Given the description of an element on the screen output the (x, y) to click on. 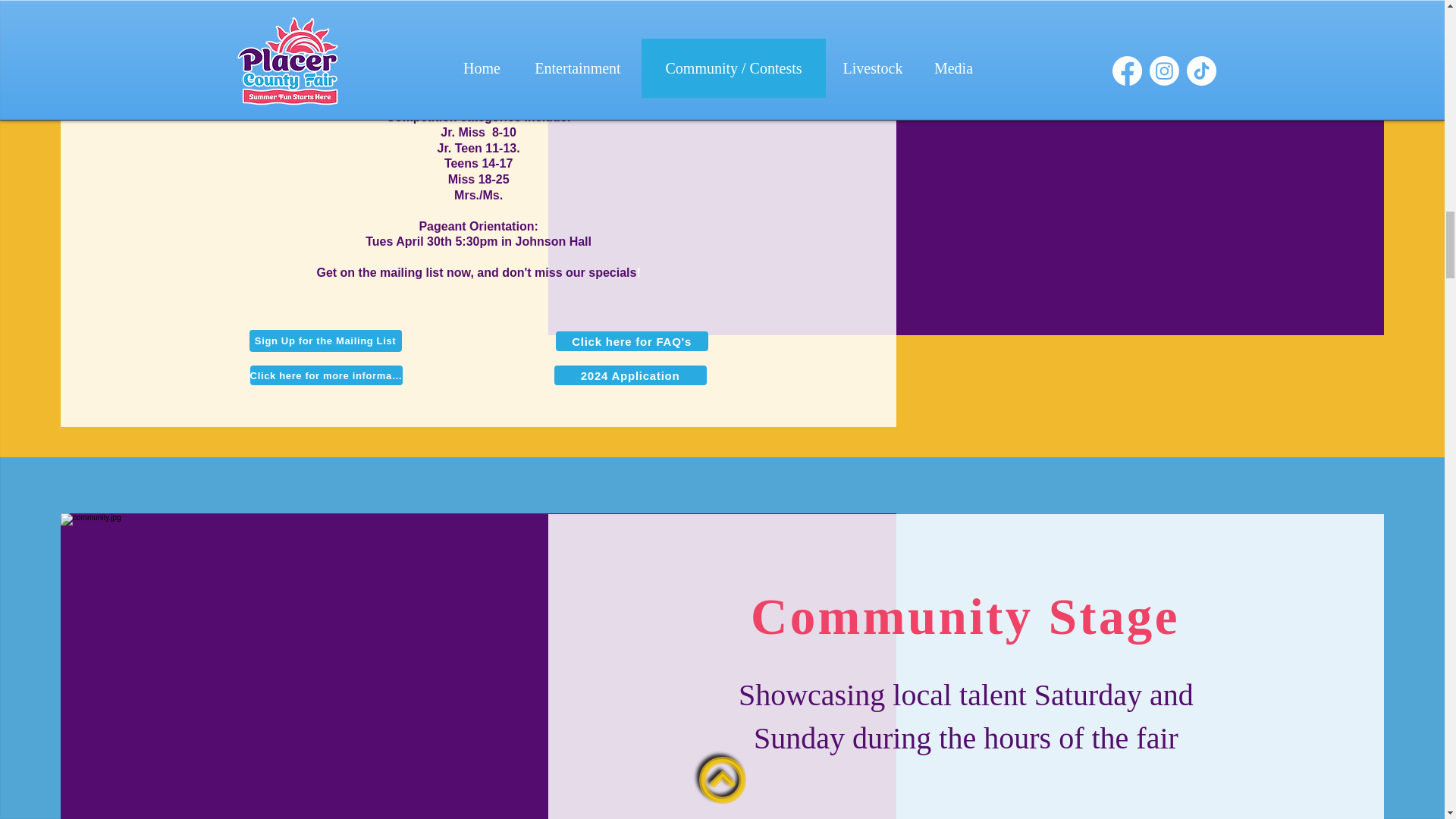
Click here for more information (326, 374)
Sign Up for the Mailing List (324, 341)
Click here for FAQ's (631, 341)
2024 Application (630, 374)
